Given the description of an element on the screen output the (x, y) to click on. 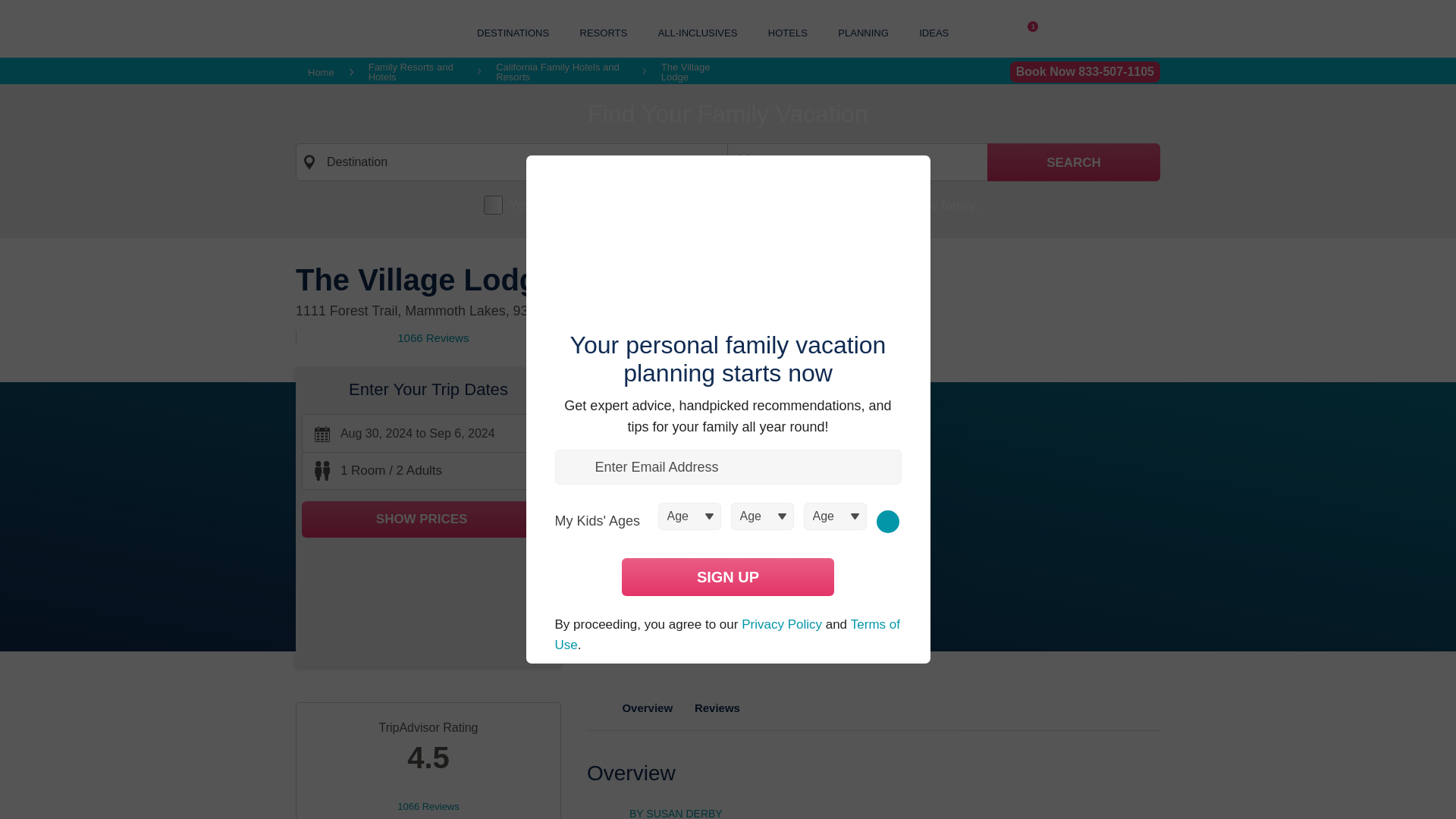
DESTINATIONS (512, 32)
Home (320, 71)
ALL-INCLUSIVES (698, 32)
IDEAS (933, 32)
Search (1073, 161)
Family Resorts and Hotels (415, 71)
Visit Family Vacation Critic on Instagram! (998, 32)
SHOW PRICES (427, 519)
PLANNING (863, 32)
Aug 30, 2024 to Sep 6, 2024 (427, 433)
